Given the description of an element on the screen output the (x, y) to click on. 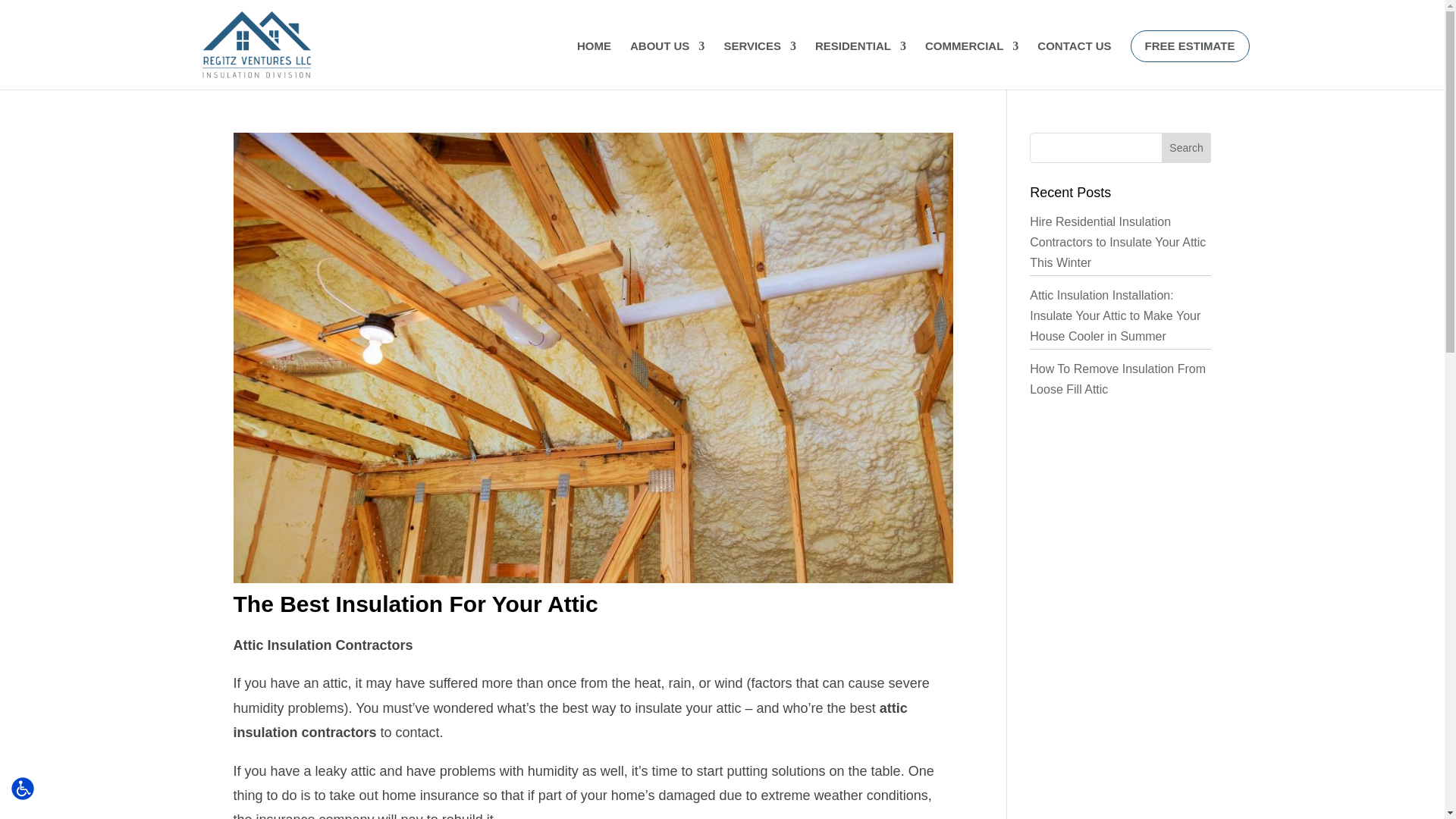
FREE ESTIMATE (1190, 46)
ABOUT US (667, 53)
CONTACT US (1073, 53)
HOME (593, 53)
RESIDENTIAL (860, 53)
Search (1186, 147)
How To Remove Insulation From Loose Fill Attic (1117, 378)
SERVICES (759, 53)
